Given the description of an element on the screen output the (x, y) to click on. 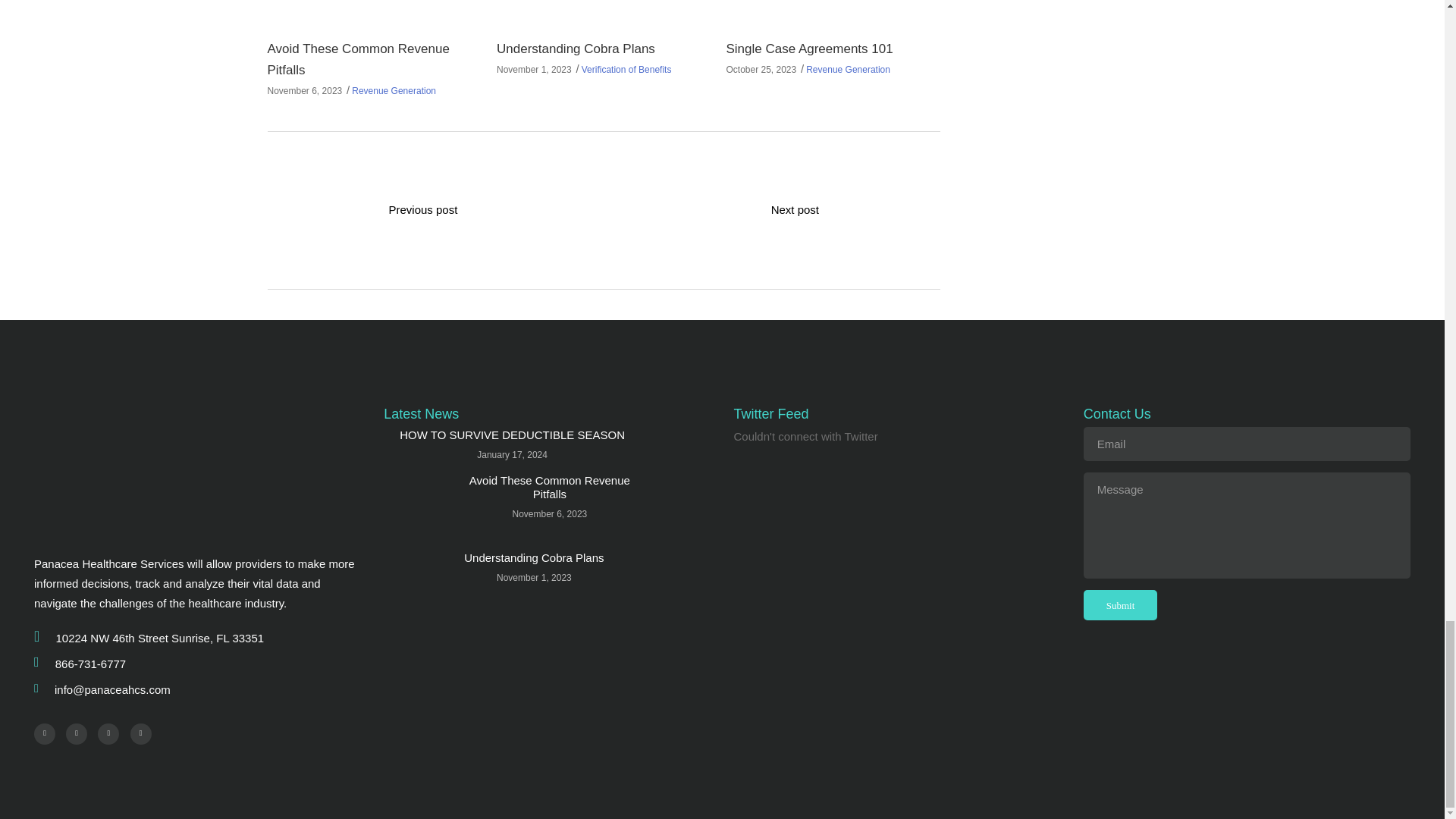
Understanding Cobra Plans (416, 581)
Single Case Agreements 101 (832, 8)
Understanding Cobra Plans (575, 48)
Avoid These Common Revenue Pitfalls (416, 504)
Avoid These Common Revenue Pitfalls (549, 487)
Avoid These Common Revenue Pitfalls (357, 58)
Single Case Agreements 101 (808, 48)
HOW TO SURVIVE DEDUCTIBLE SEASON (511, 434)
Understanding Cobra Plans (603, 8)
Submit (1120, 604)
Avoid These Common Revenue Pitfalls (373, 8)
